Given the description of an element on the screen output the (x, y) to click on. 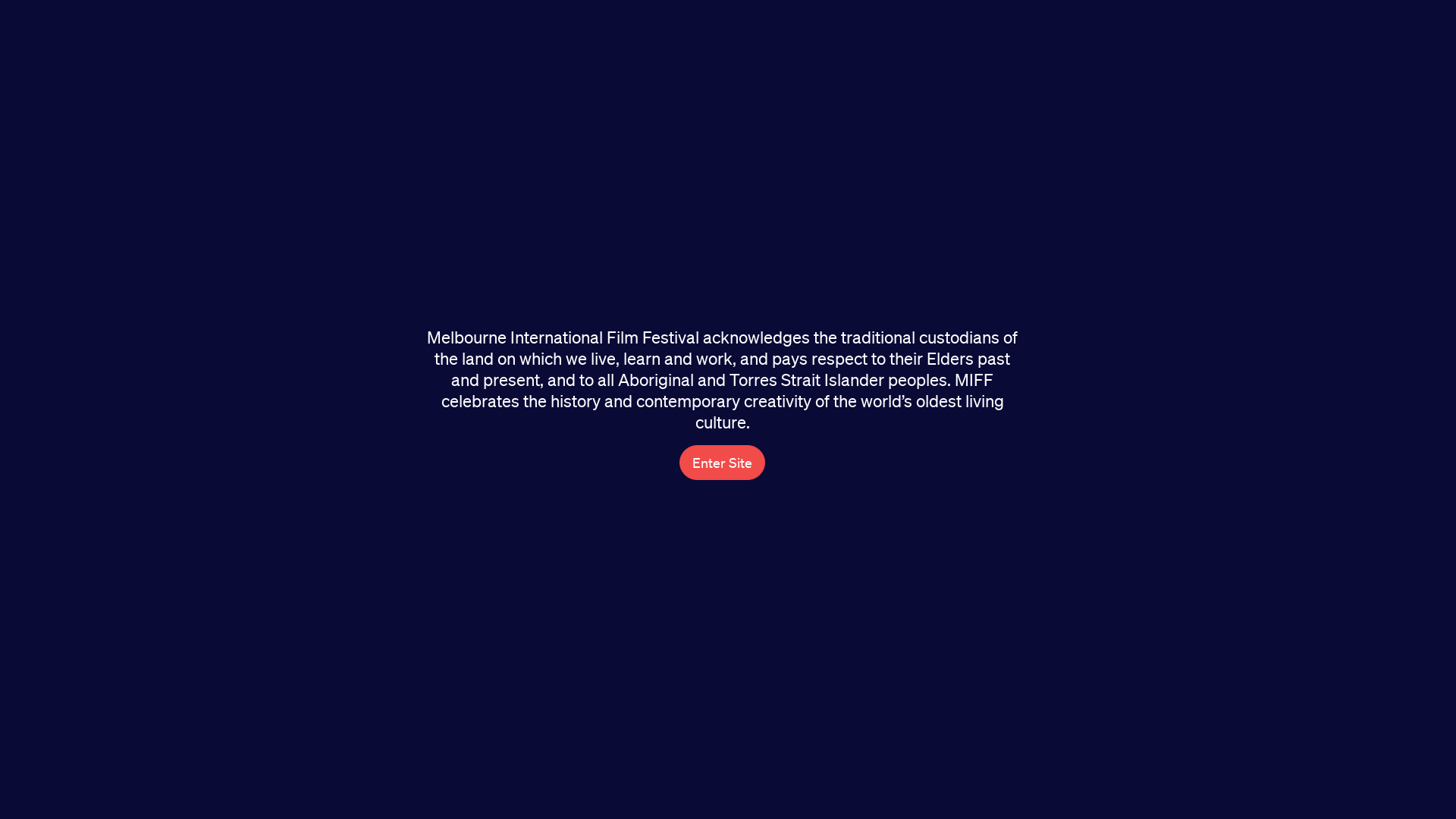
Enter Site Element type: text (722, 462)
